Given the description of an element on the screen output the (x, y) to click on. 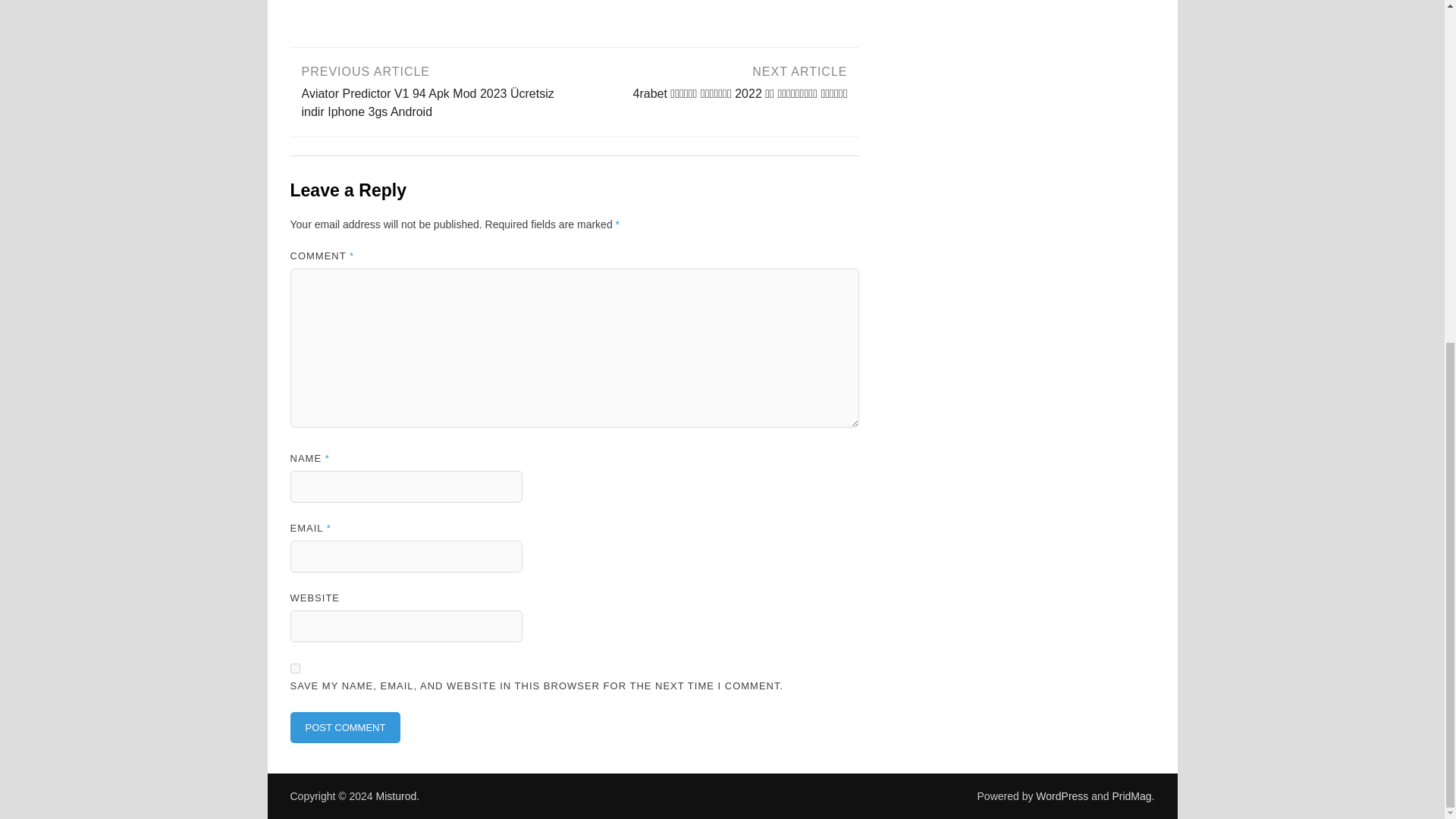
Misturod (395, 796)
Post Comment (344, 727)
WordPress (1061, 796)
Misturod (395, 796)
yes (294, 668)
Post Comment (344, 727)
PridMag (1131, 796)
